Given the description of an element on the screen output the (x, y) to click on. 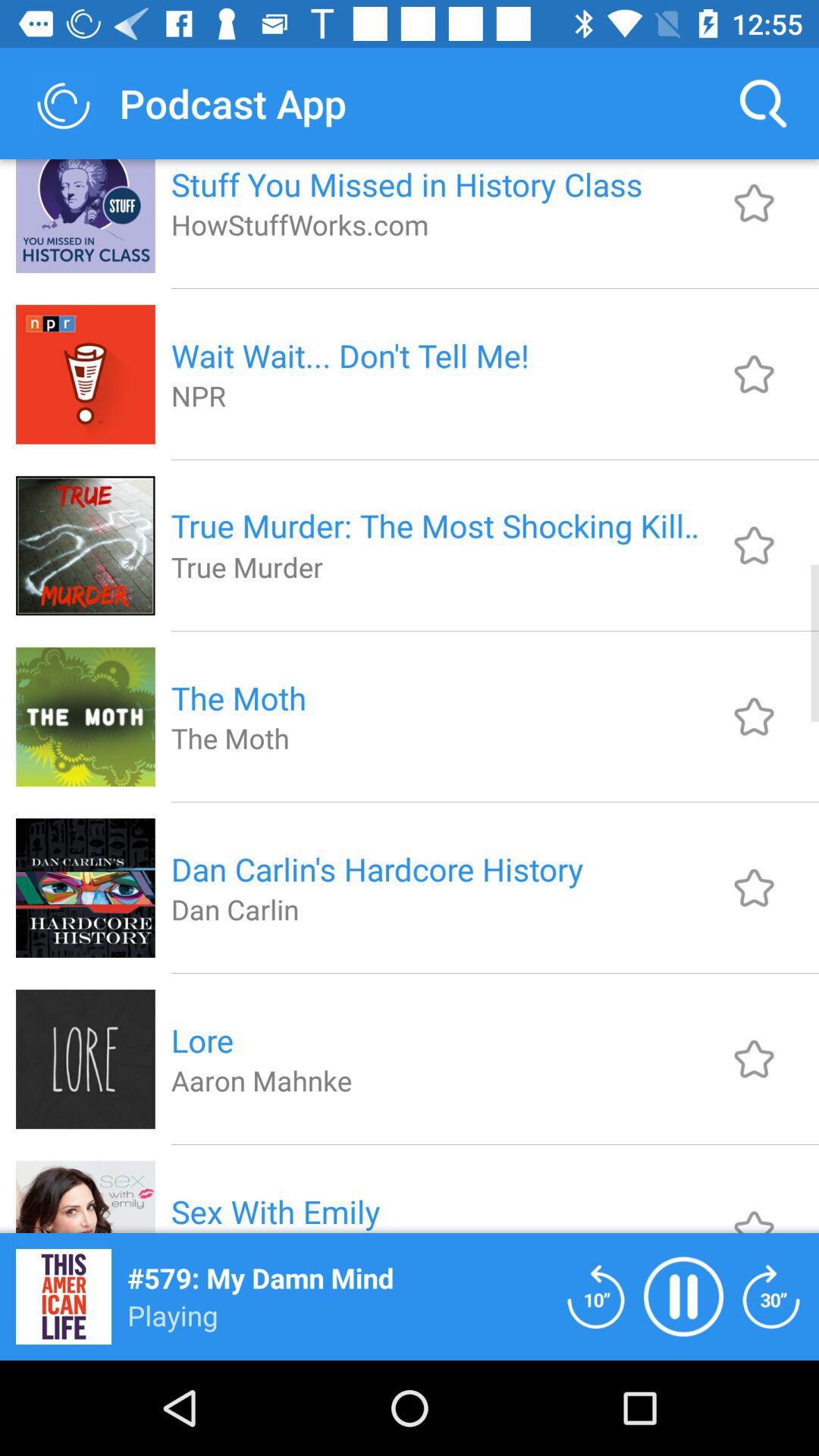
add to starred (754, 203)
